Given the description of an element on the screen output the (x, y) to click on. 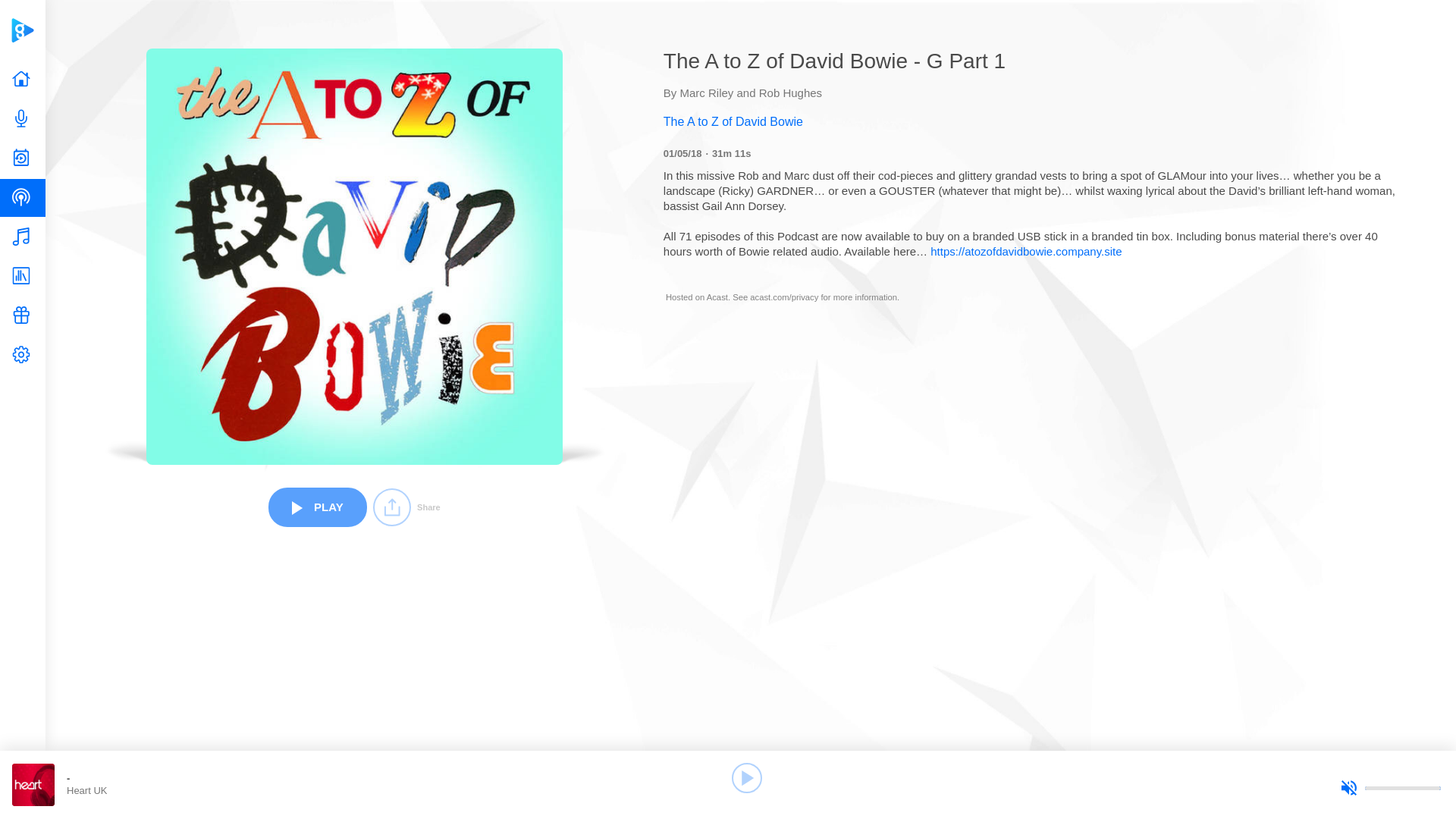
Share (406, 507)
The A to Z of David Bowie (1035, 121)
PLAY (316, 507)
Share (406, 507)
Global Player (22, 30)
Global Player (22, 30)
